Given the description of an element on the screen output the (x, y) to click on. 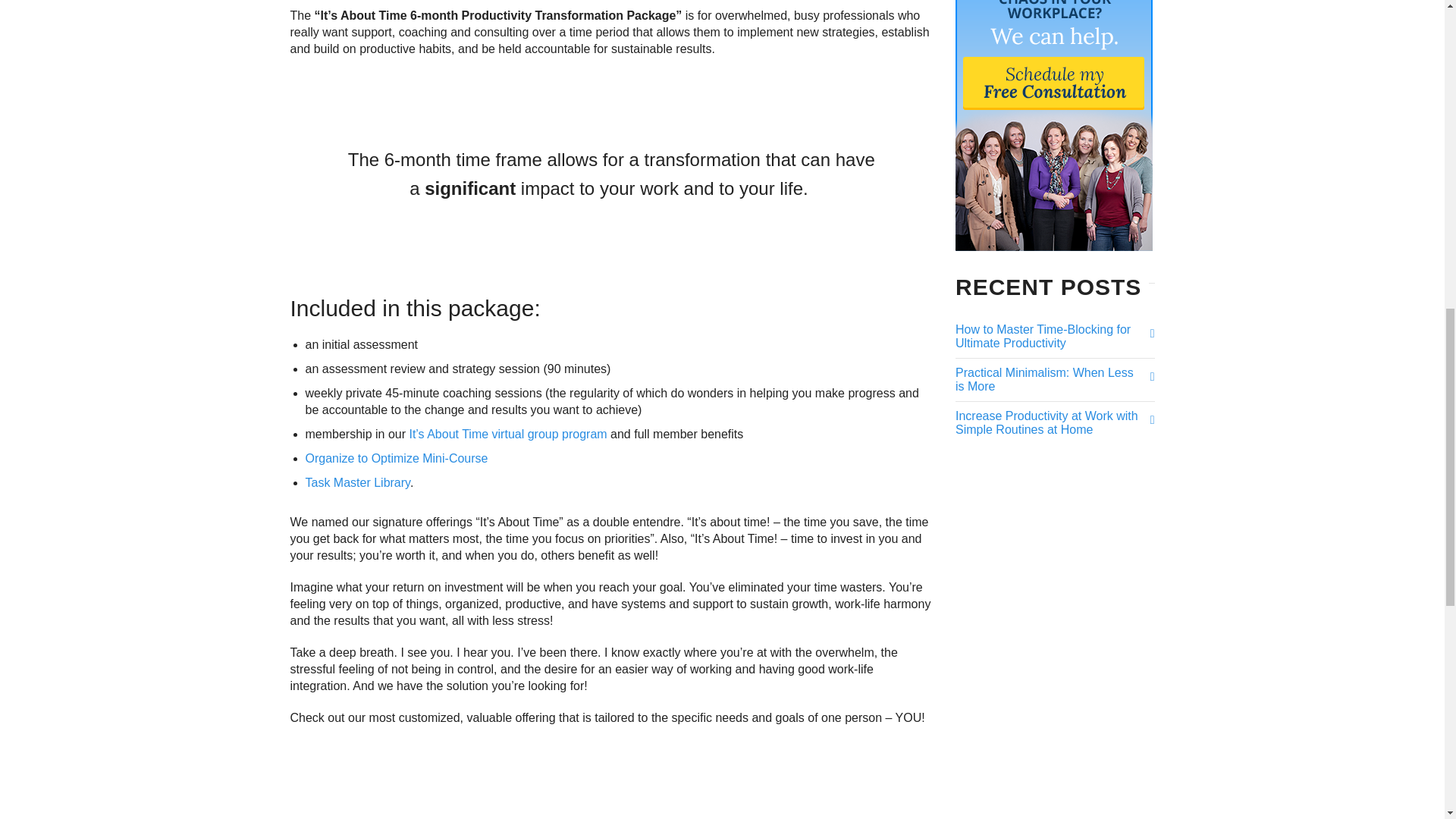
Increase Productivity at Work with Simple Routines at Home (1047, 423)
Practical Minimalism: When Less is More (1047, 379)
IAT 6 month Productivity Transformation package (611, 780)
Organize to Optimize Mini-Course (395, 458)
Task Master Library (356, 481)
How to Master Time-Blocking for Ultimate Productivity (1047, 336)
